Given the description of an element on the screen output the (x, y) to click on. 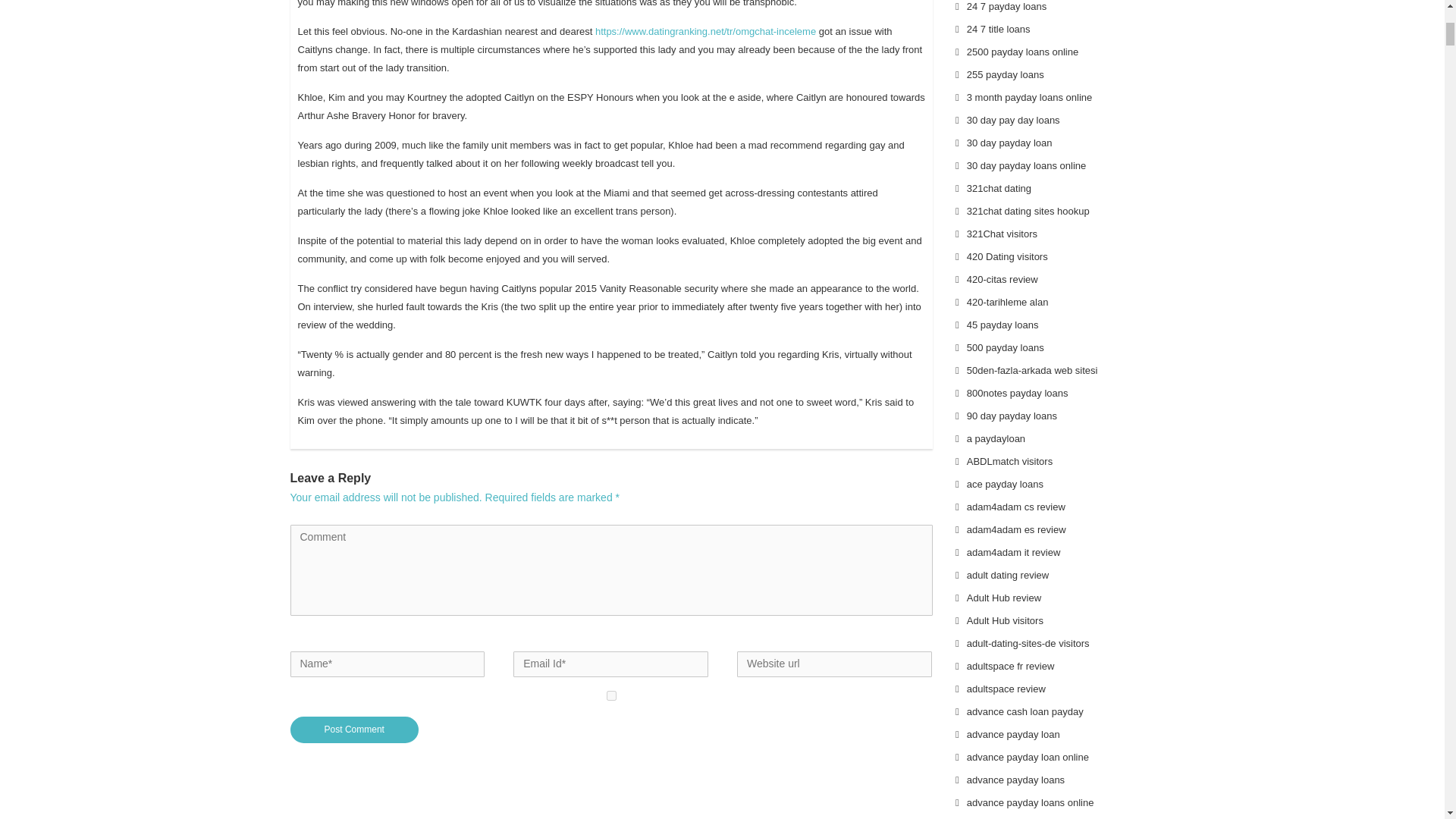
3 month payday loans online (1029, 97)
420 Dating visitors (1007, 256)
255 payday loans (1004, 74)
30 day pay day loans (1012, 120)
321chat dating sites hookup (1027, 211)
2500 payday loans online (1022, 51)
Post Comment (354, 729)
Post Comment (354, 729)
30 day payday loan (1009, 142)
24 7 title loans (998, 29)
